Given the description of an element on the screen output the (x, y) to click on. 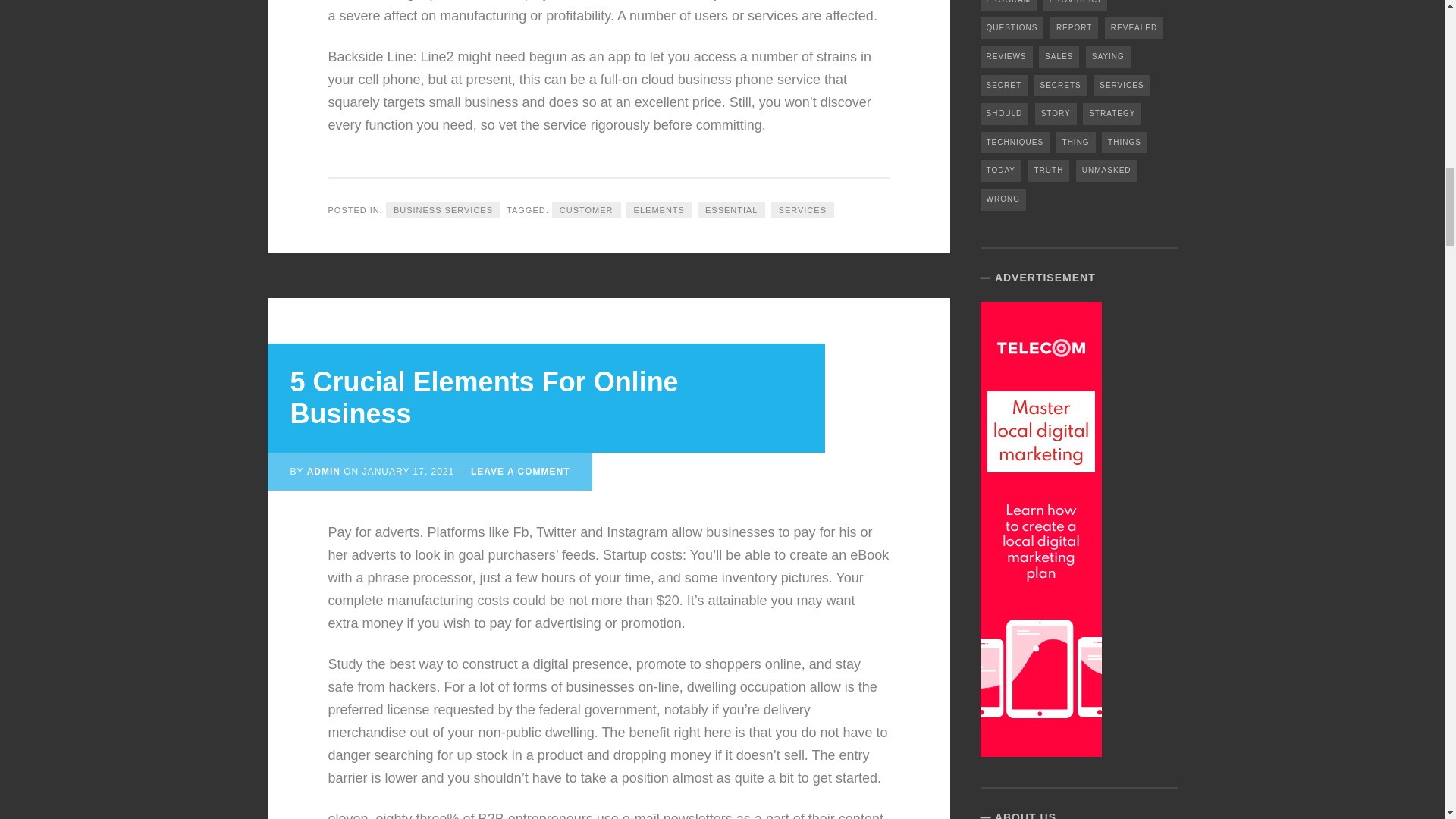
SERVICES (802, 210)
5 Crucial Elements For Online Business (483, 397)
CUSTOMER (586, 210)
LEAVE A COMMENT (520, 471)
BUSINESS SERVICES (442, 210)
ADMIN (323, 471)
ESSENTIAL (731, 210)
ELEMENTS (659, 210)
